Given the description of an element on the screen output the (x, y) to click on. 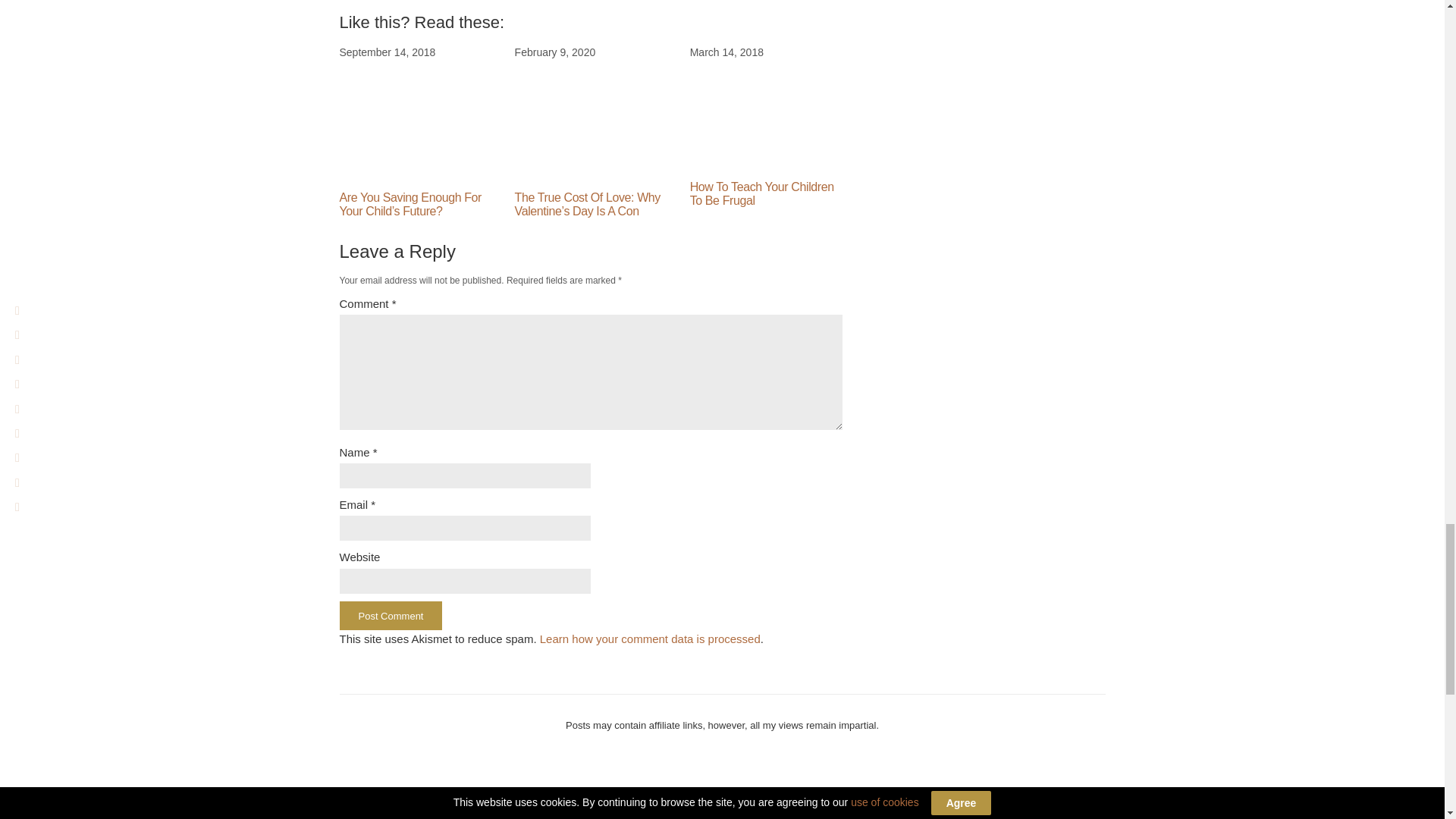
How To Teach Your Children To Be Frugal (762, 193)
Post Comment (390, 615)
Learn how your comment data is processed (650, 638)
Post Comment (390, 615)
